Given the description of an element on the screen output the (x, y) to click on. 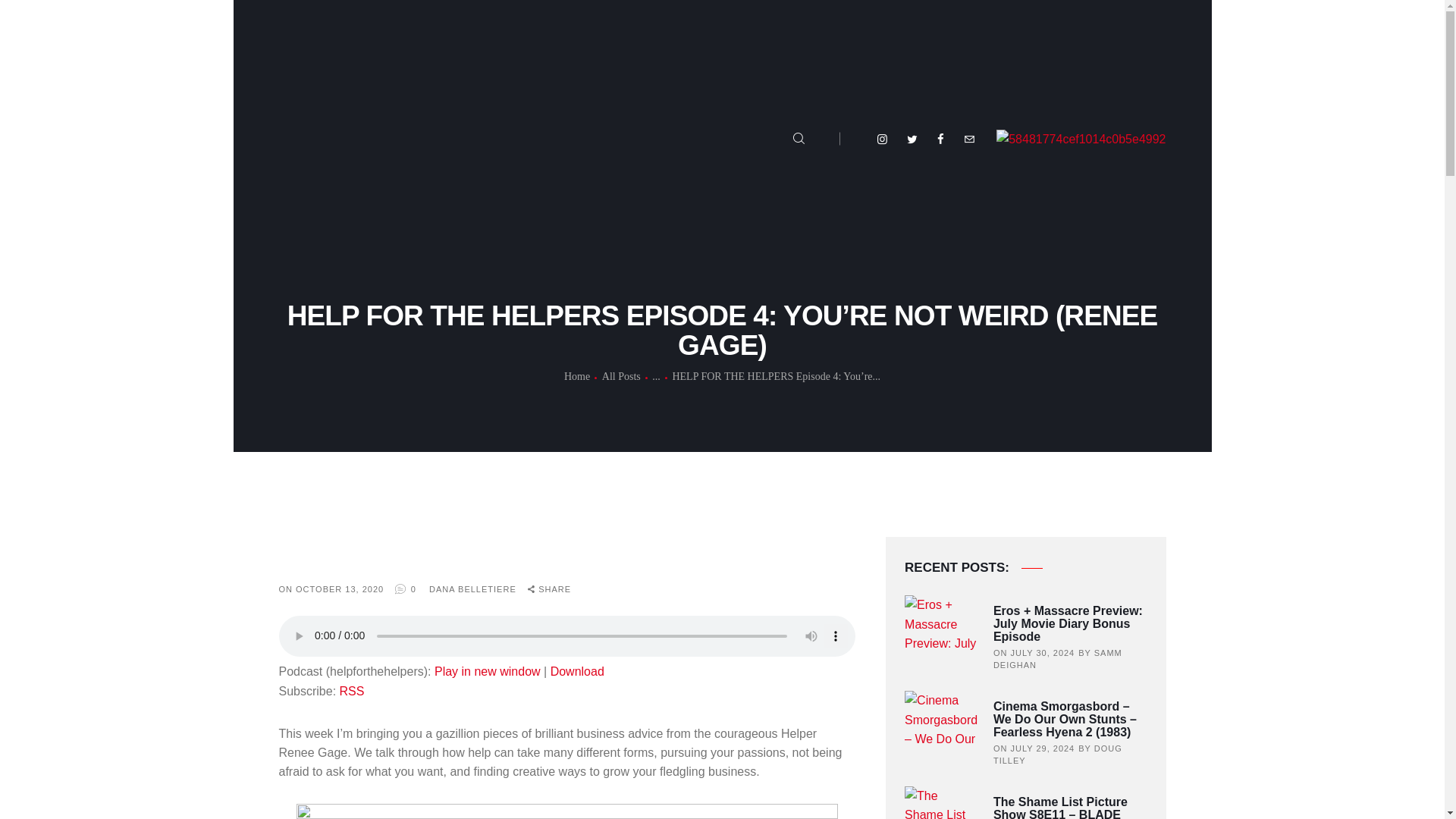
58481774cef1014c0b5e4992 (1080, 138)
Download (577, 671)
All Posts (621, 376)
Home (576, 377)
Subscribe via RSS (352, 690)
Play in new window (486, 671)
